Given the description of an element on the screen output the (x, y) to click on. 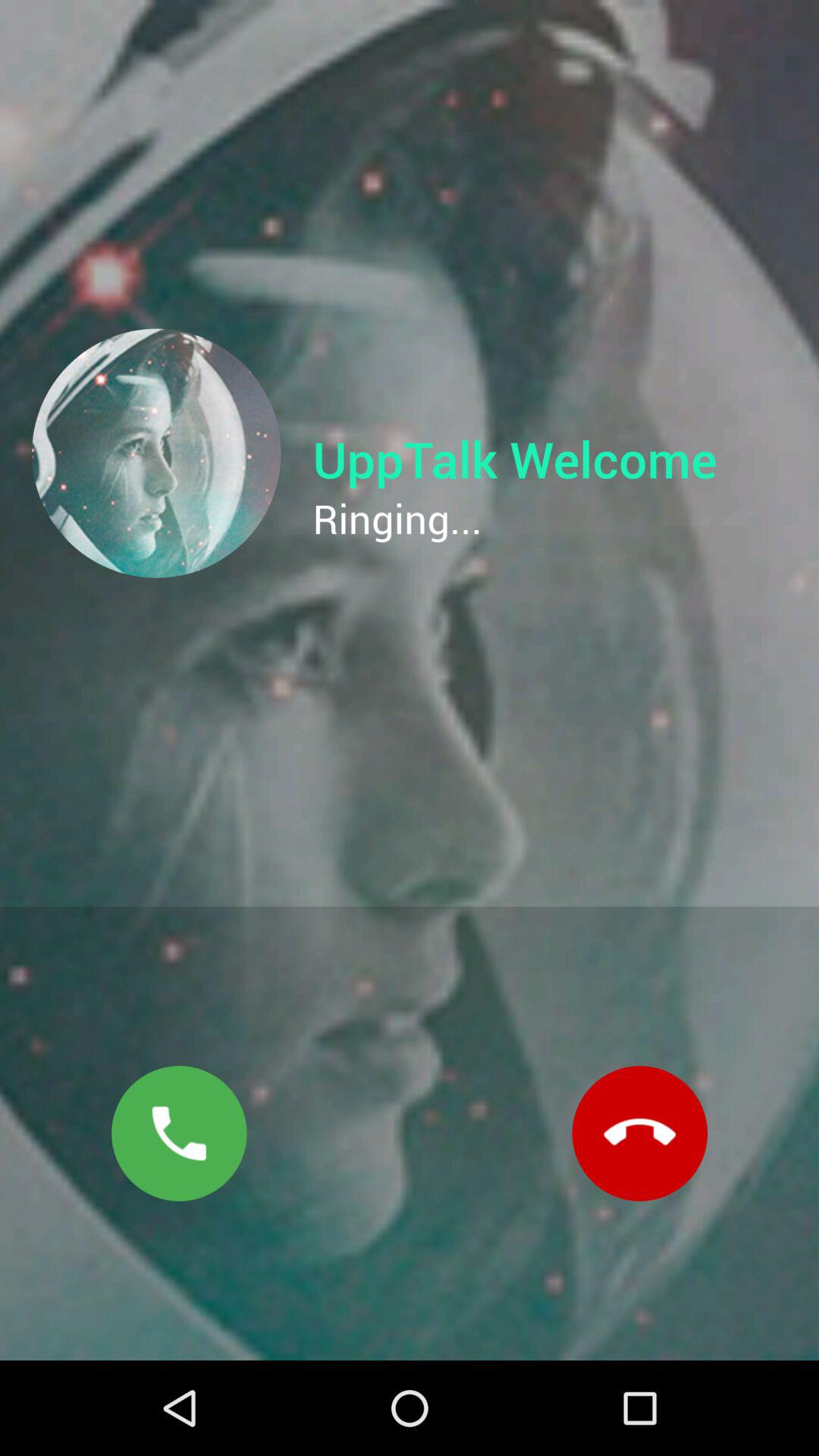
end call (639, 1133)
